Given the description of an element on the screen output the (x, y) to click on. 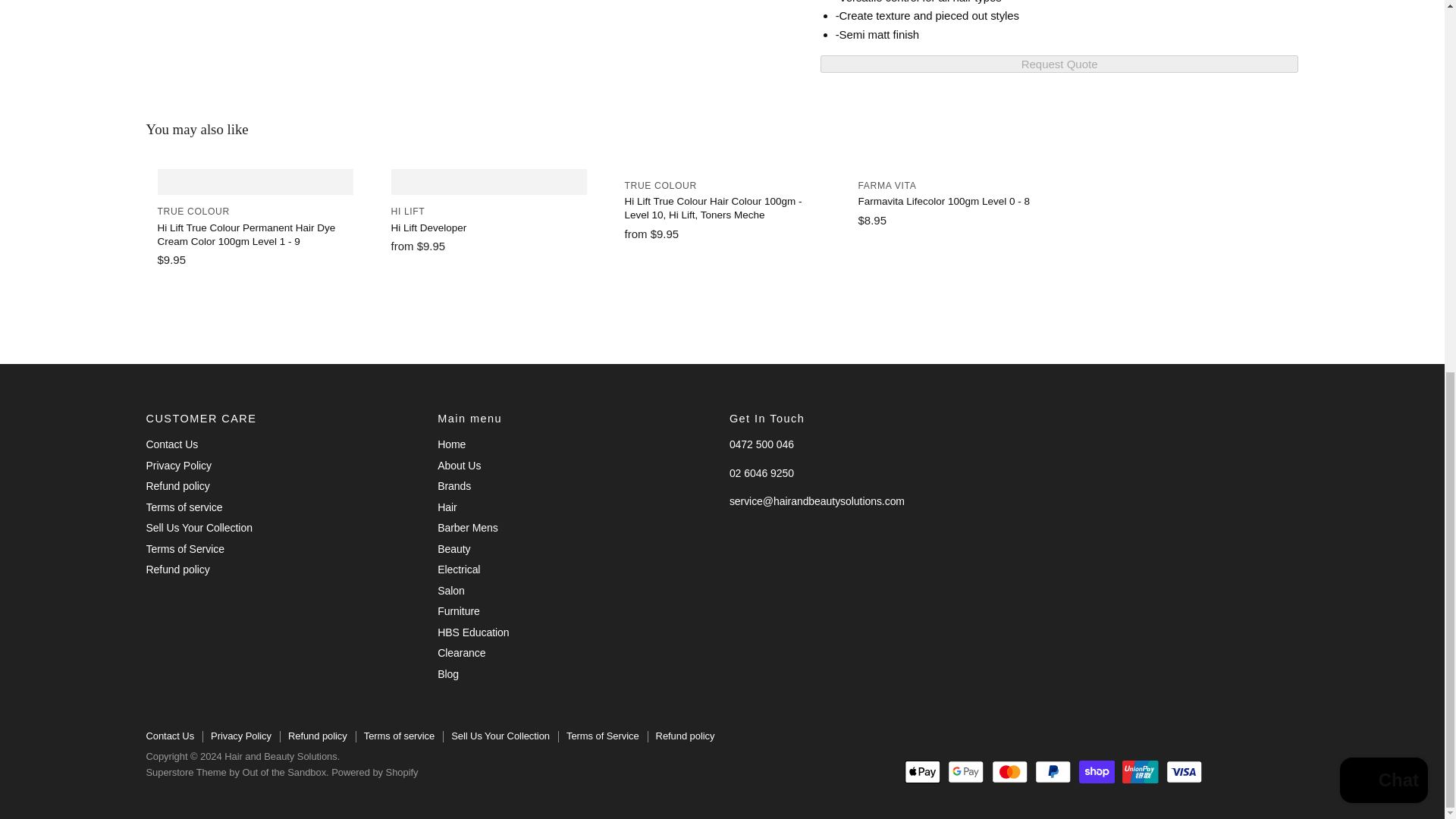
Shopify online store chat (1383, 101)
